Given the description of an element on the screen output the (x, y) to click on. 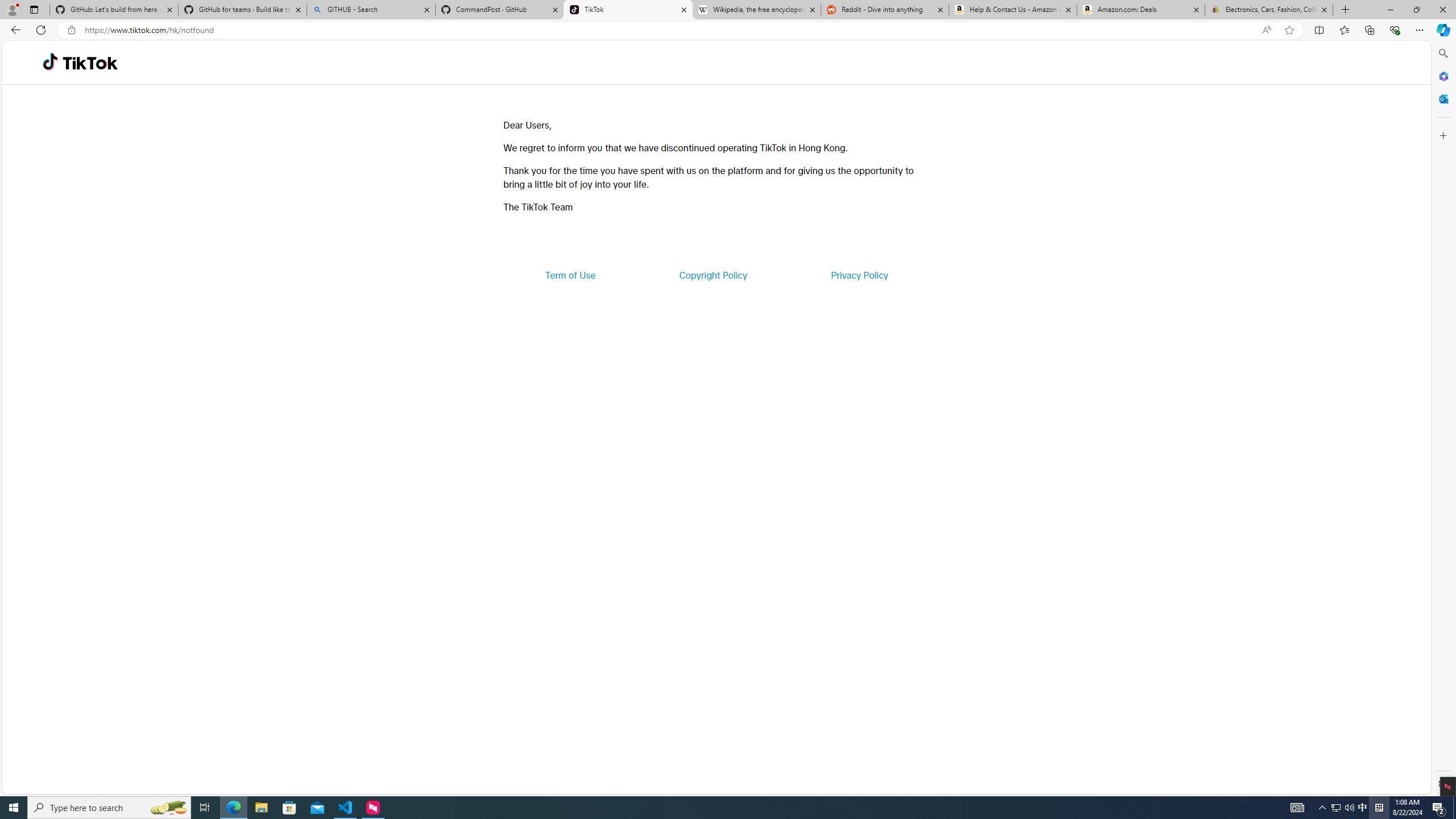
Help & Contact Us - Amazon Customer Service (1012, 9)
Term of Use (569, 274)
